Given the description of an element on the screen output the (x, y) to click on. 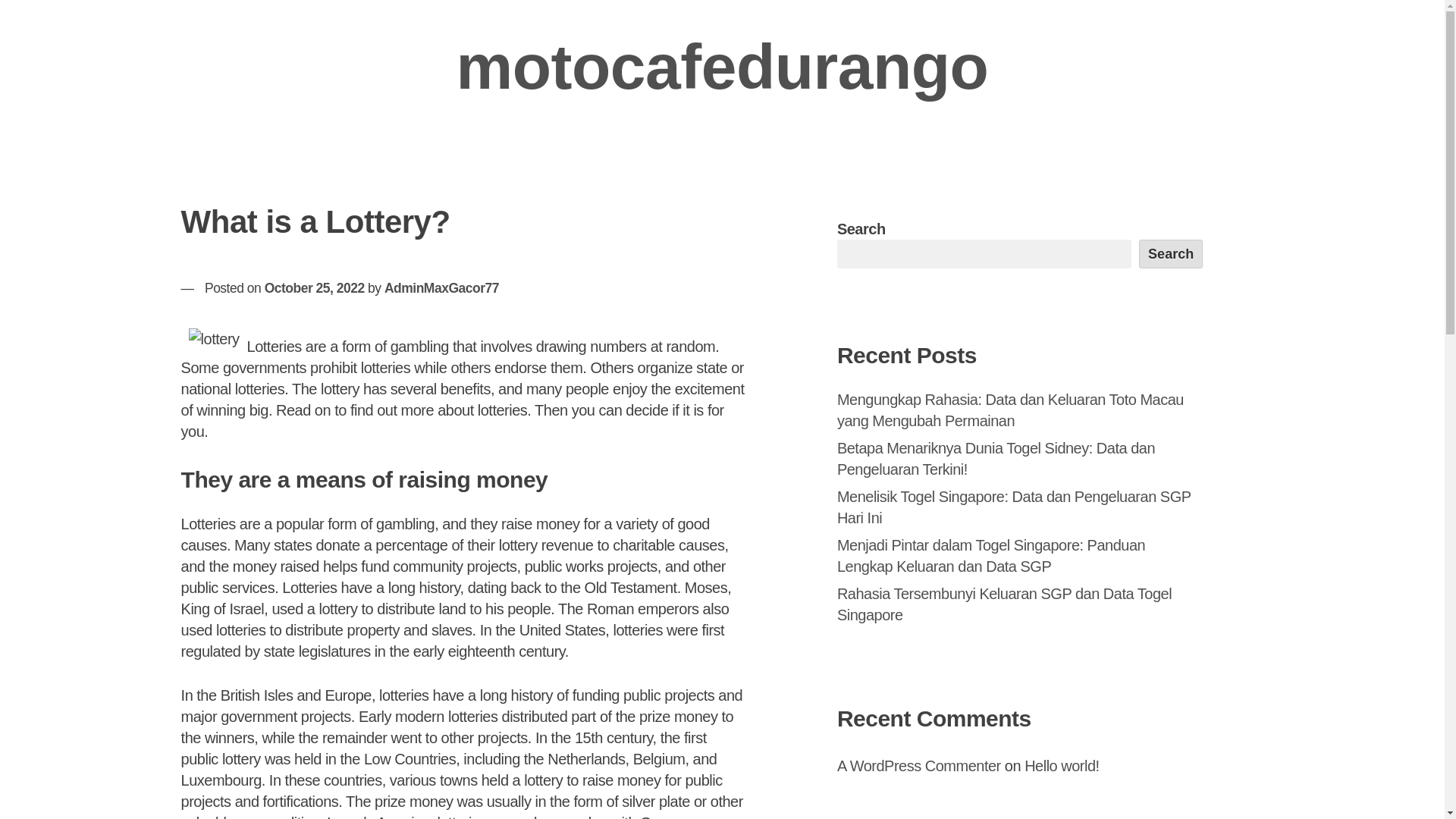
Hello world! (1062, 765)
Menelisik Togel Singapore: Data dan Pengeluaran SGP Hari Ini (1014, 507)
Search (1171, 253)
AdminMaxGacor77 (441, 287)
October 25, 2022 (314, 287)
A WordPress Commenter (919, 765)
motocafedurango (722, 66)
Rahasia Tersembunyi Keluaran SGP dan Data Togel Singapore (1004, 604)
